Given the description of an element on the screen output the (x, y) to click on. 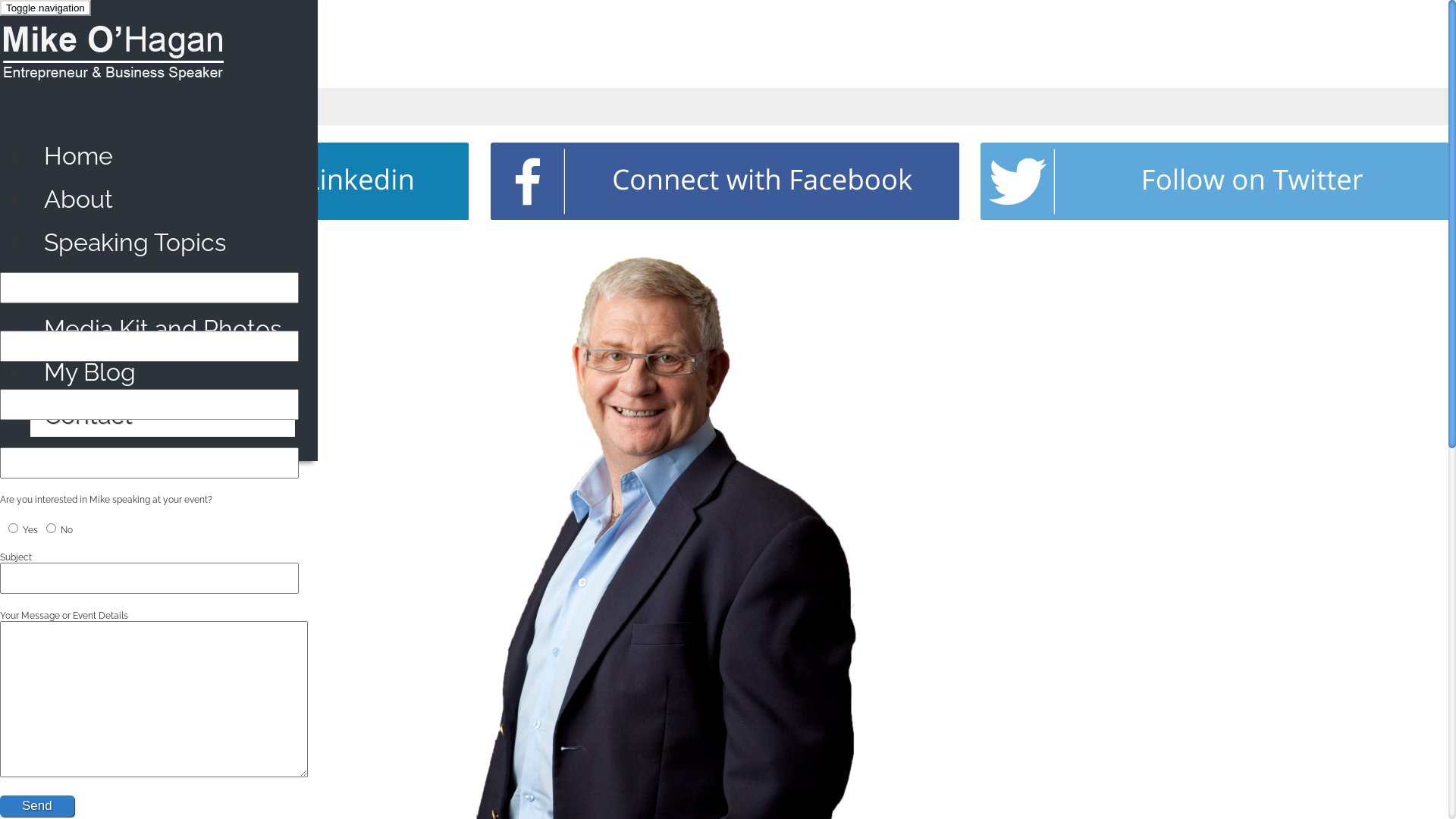
Media Kit and Photos Element type: text (162, 328)
Mike O'Hagan Element type: hover (113, 84)
Speaking Topics Element type: text (162, 241)
Home Element type: text (162, 155)
Videos Element type: text (162, 285)
My Blog Element type: text (162, 371)
Send Element type: text (37, 805)
Contact Element type: text (162, 414)
About Element type: text (162, 198)
Toggle navigation Element type: text (45, 7)
